Given the description of an element on the screen output the (x, y) to click on. 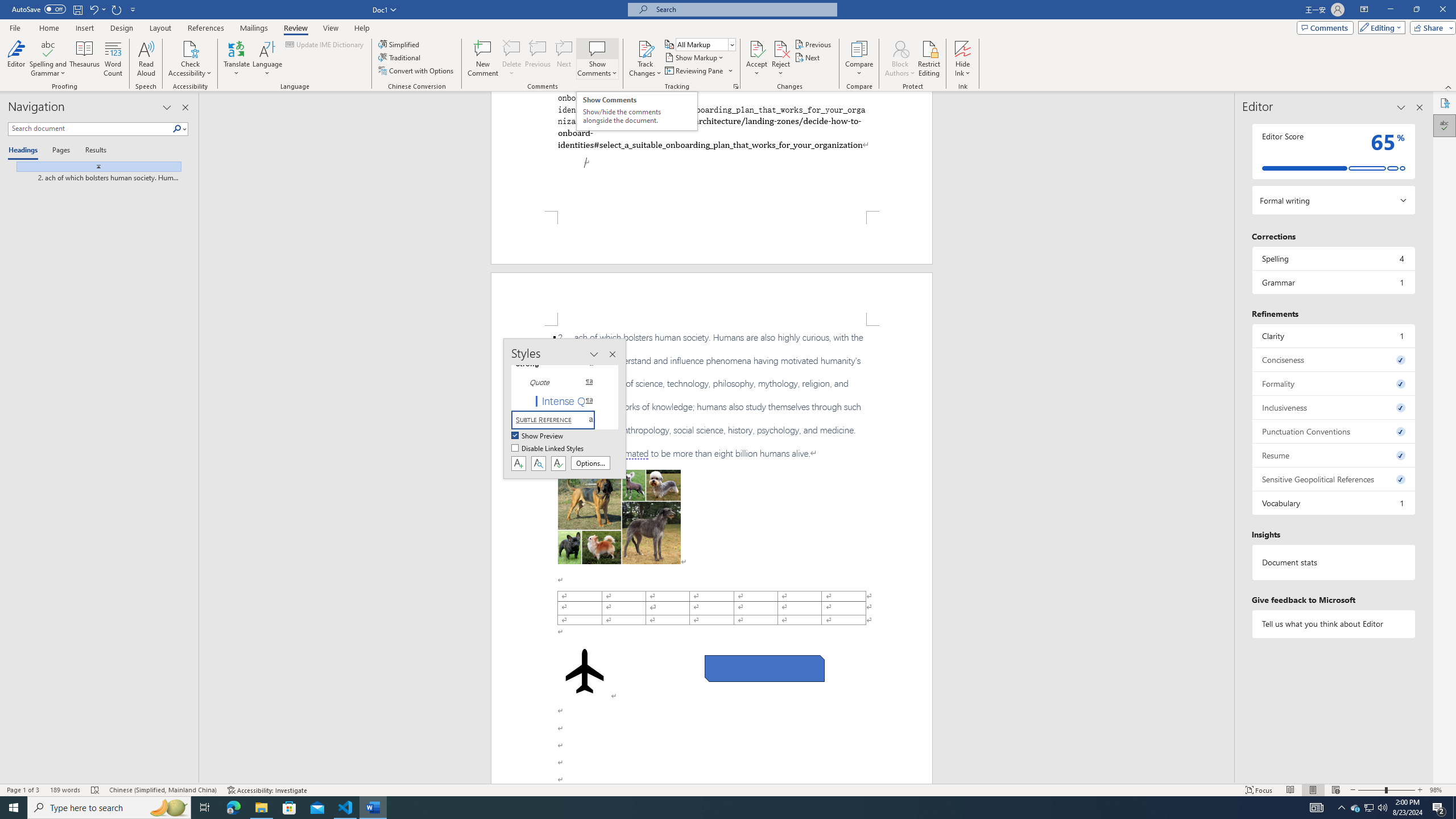
Convert with Options... (417, 69)
Restrict Editing (929, 58)
Editor Score 65% (1333, 151)
Read Aloud (145, 58)
Delete (511, 48)
